Given the description of an element on the screen output the (x, y) to click on. 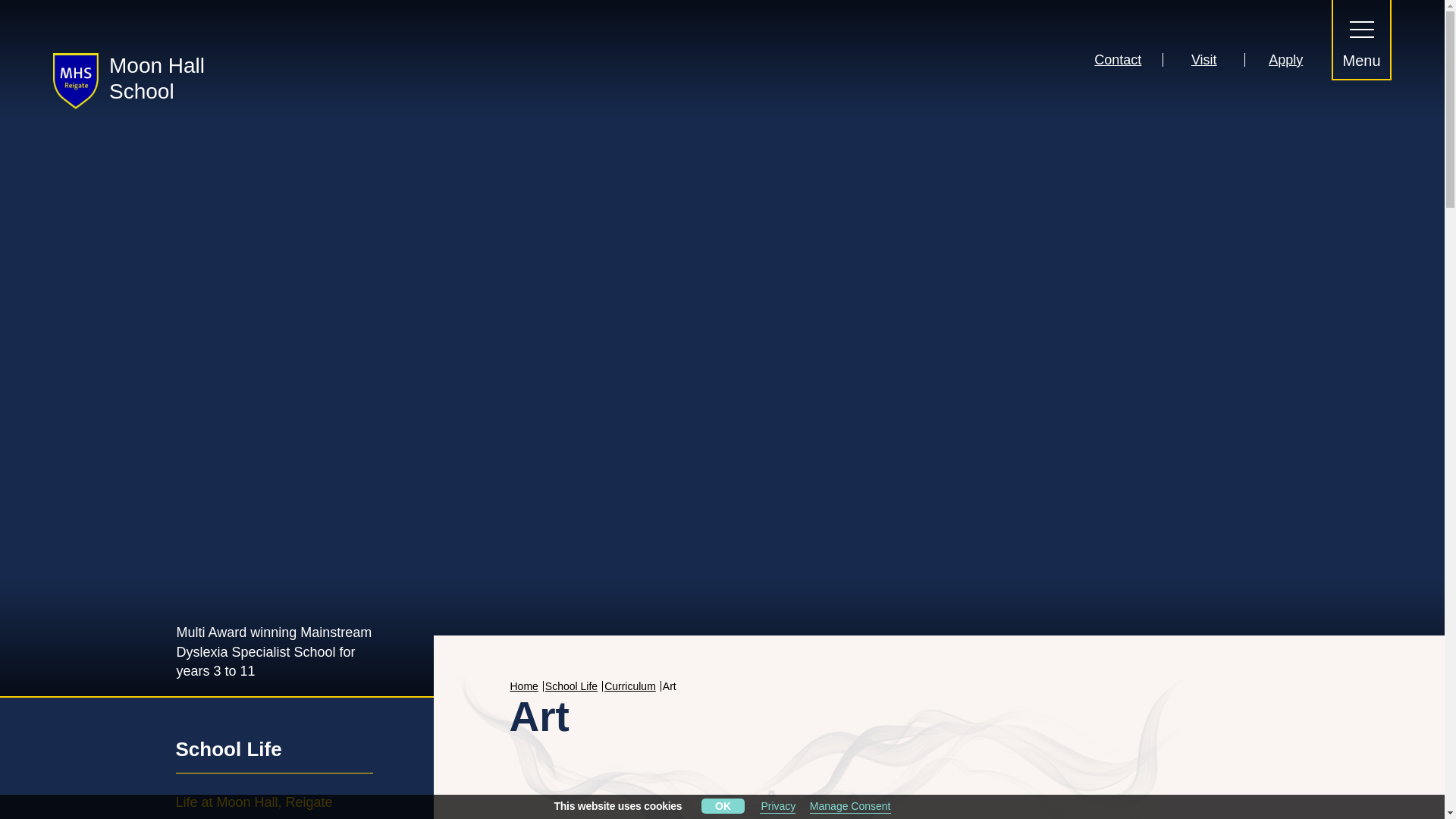
Contact (1117, 59)
Moon Hall School (137, 80)
Visit (1204, 59)
Apply (1285, 59)
Contact (1117, 59)
Moon Hall School (137, 80)
Apply (1285, 59)
Visit (1204, 59)
